Given the description of an element on the screen output the (x, y) to click on. 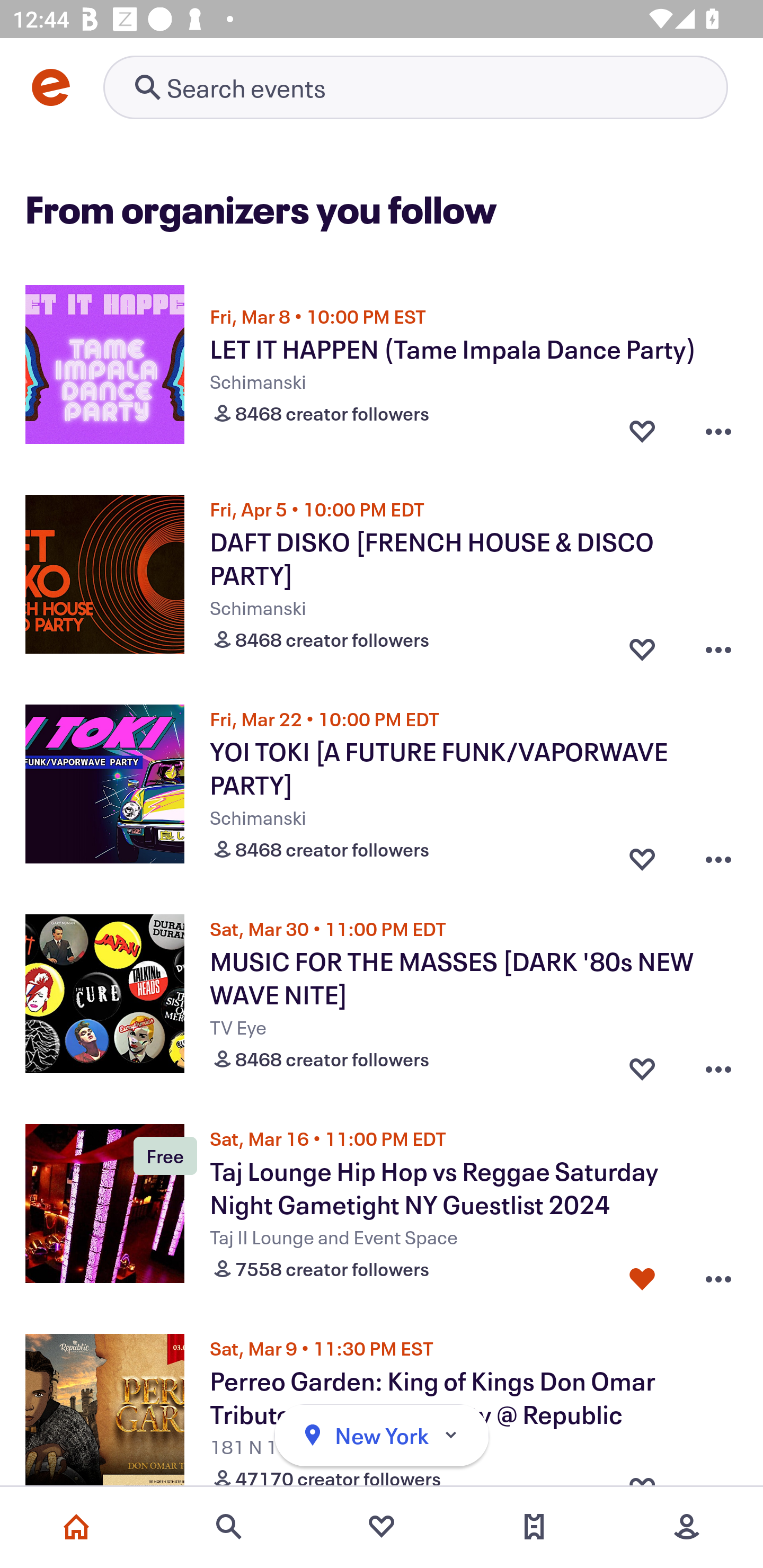
Retry's image Search events (415, 86)
Favorite button (642, 430)
Overflow menu button (718, 430)
Favorite button (642, 644)
Overflow menu button (718, 644)
Favorite button (642, 855)
Overflow menu button (718, 855)
Favorite button (642, 1065)
Overflow menu button (718, 1065)
Favorite button (642, 1274)
Overflow menu button (718, 1274)
New York (381, 1435)
Home (76, 1526)
Search events (228, 1526)
Favorites (381, 1526)
Tickets (533, 1526)
More (686, 1526)
